Given the description of an element on the screen output the (x, y) to click on. 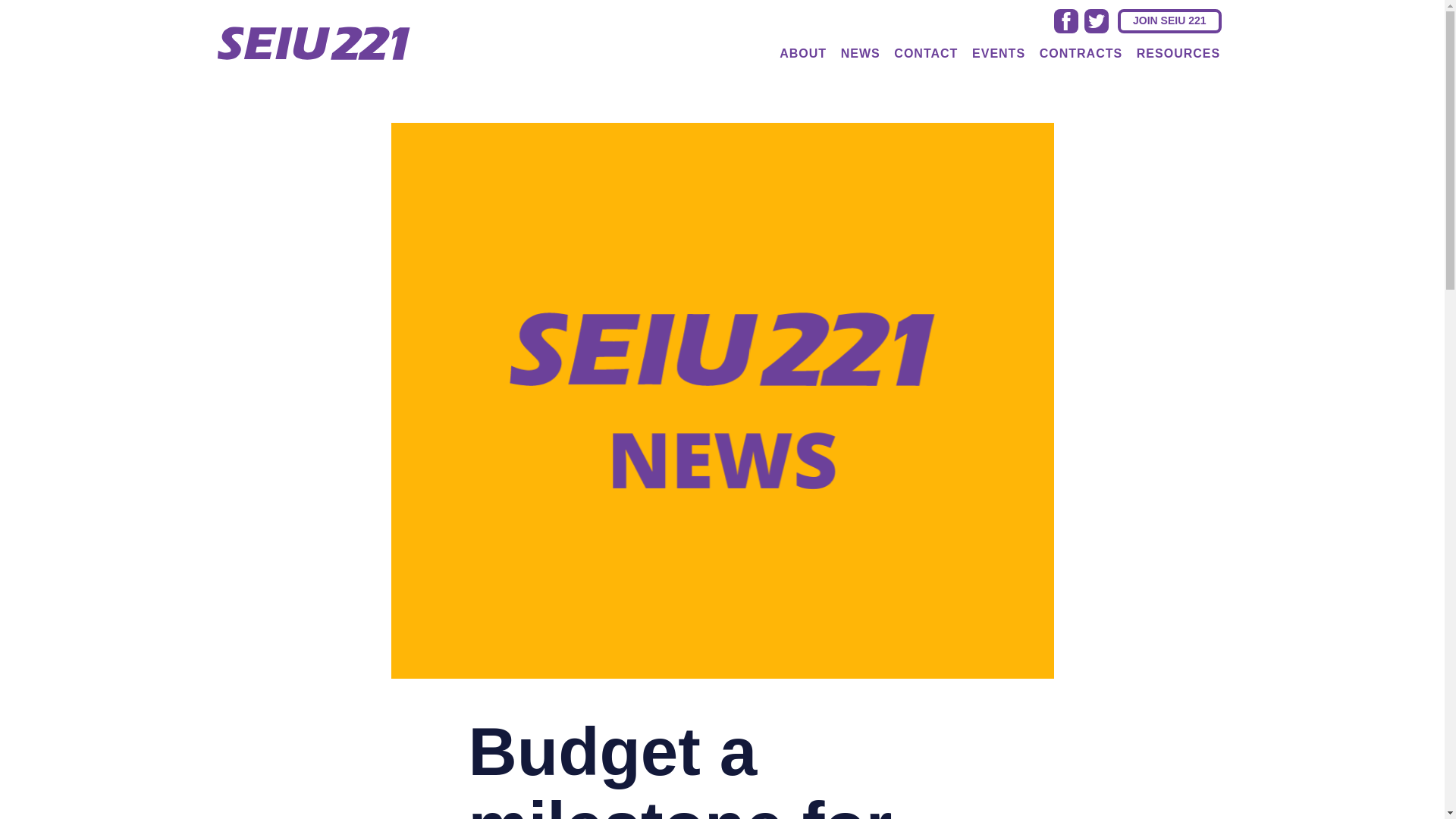
News (860, 53)
Contact (925, 53)
RESOURCES (1178, 53)
Contracts (1080, 53)
CONTACT (925, 53)
About (802, 53)
Resources (1178, 53)
facebook (1066, 21)
CONTRACTS (1080, 53)
NEWS (860, 53)
twitter (1096, 21)
Donate (1169, 21)
EVENTS (998, 53)
twitter (1096, 21)
